Given the description of an element on the screen output the (x, y) to click on. 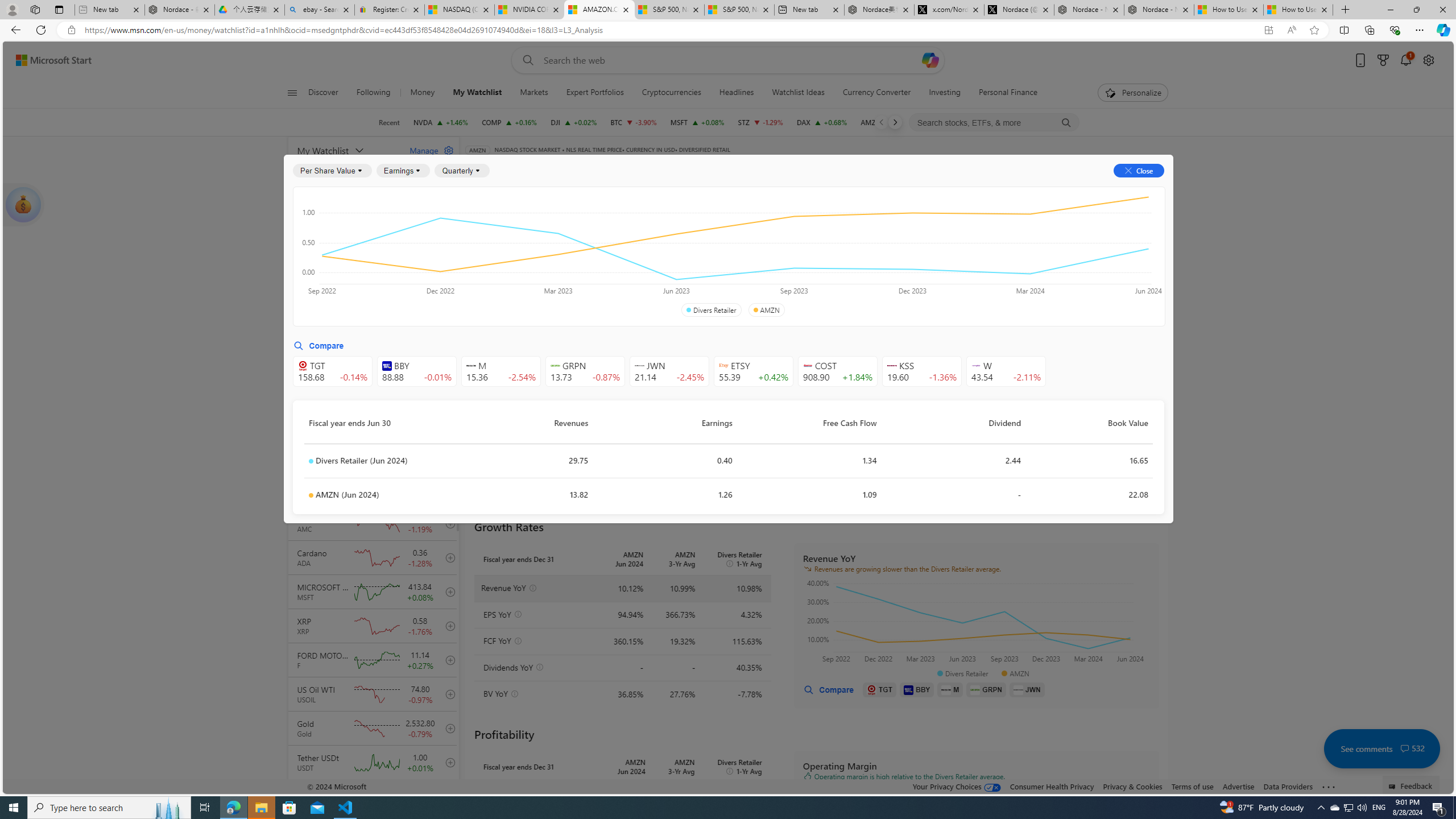
Per Share Values (531, 253)
JWN (1027, 689)
AMZN AMAZON.COM, INC. decrease 173.12 -2.38 -1.36% (887, 122)
COMP NASDAQ increase 17,754.82 +29.06 +0.16% (509, 122)
Tab actions menu (58, 9)
Skip to footer (46, 59)
Currency Converter (876, 92)
Terms of use (1192, 786)
Compare (722, 166)
show card (22, 204)
Investors (1009, 188)
Refresh (40, 29)
Privacy & Cookies (1131, 785)
